Given the description of an element on the screen output the (x, y) to click on. 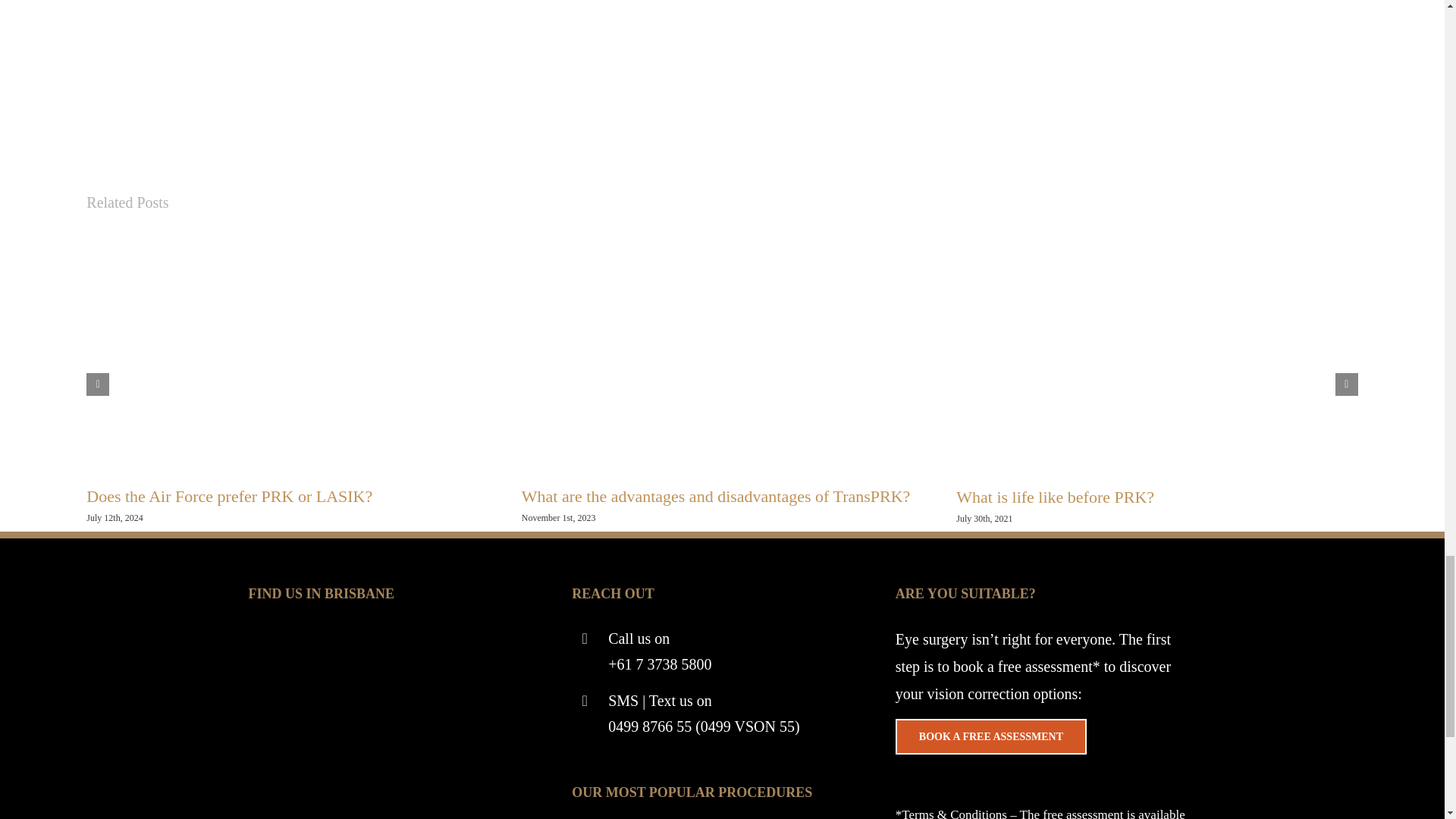
Does the Air Force prefer PRK or LASIK? (228, 496)
What are the advantages and disadvantages of TransPRK? (716, 496)
What is life like before PRK? (1055, 496)
